Given the description of an element on the screen output the (x, y) to click on. 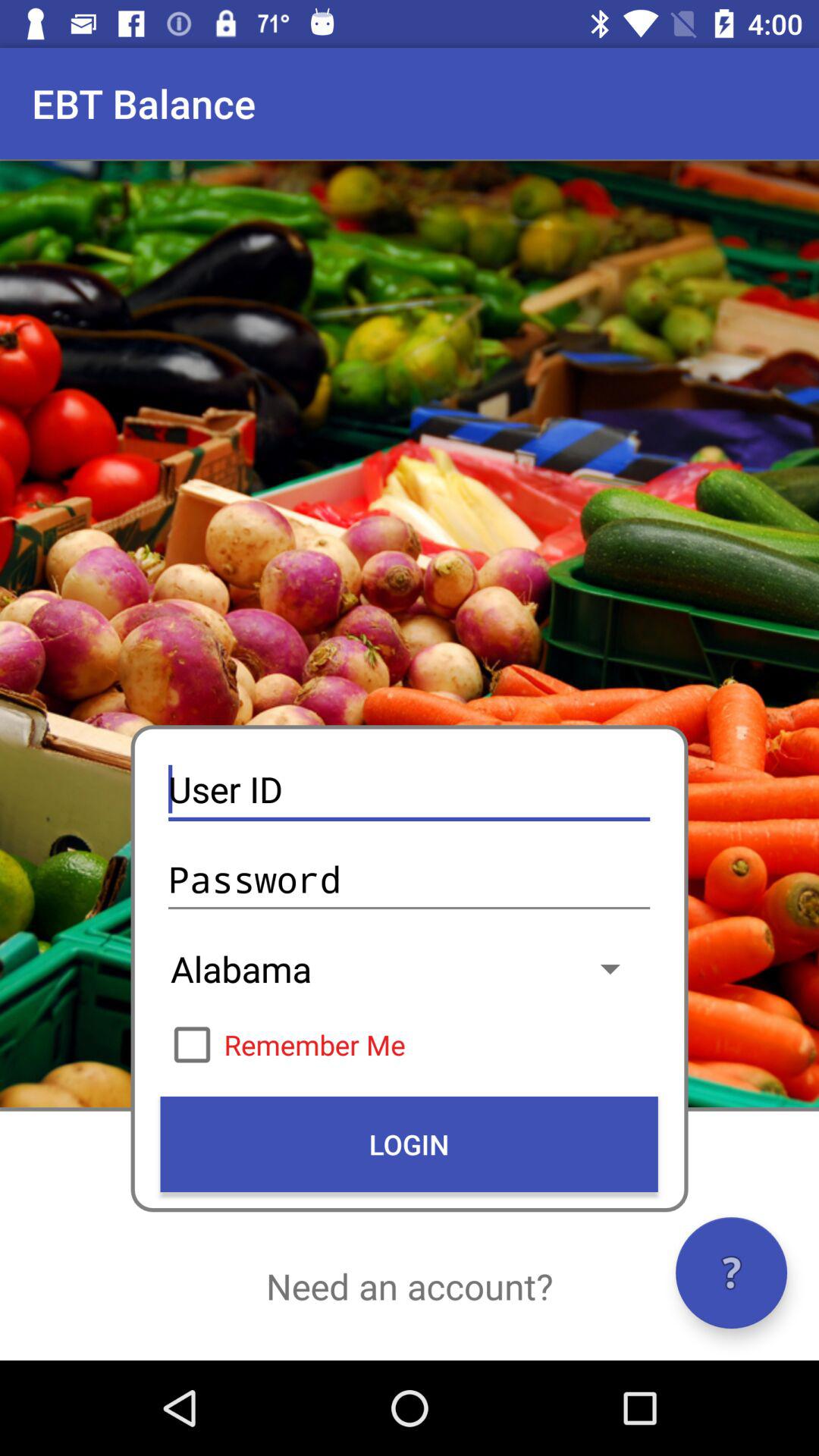
select icon above the need an account? (409, 1144)
